Given the description of an element on the screen output the (x, y) to click on. 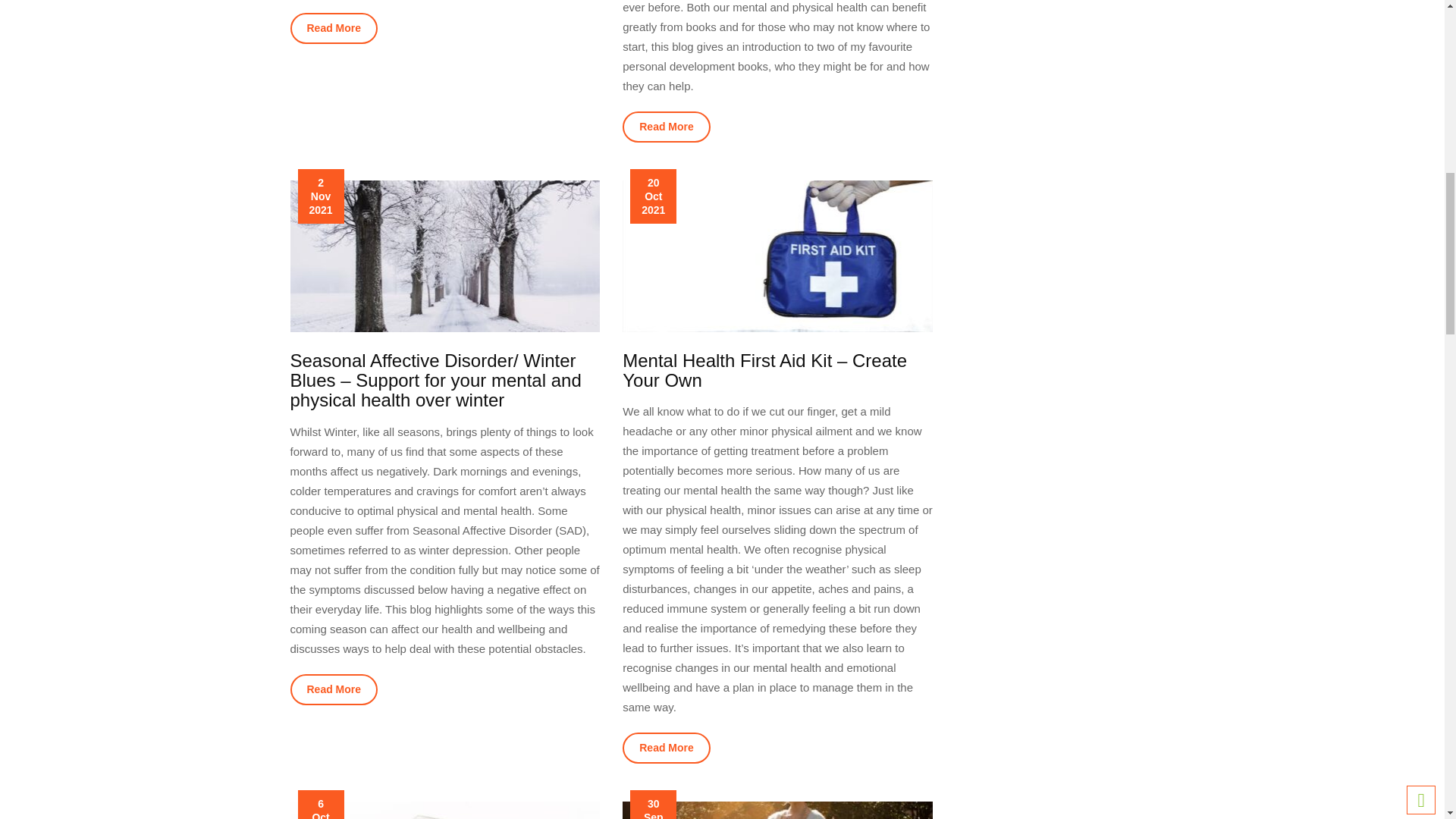
Read More (666, 126)
Read More (666, 747)
Read More (333, 28)
Read More (333, 689)
